Given the description of an element on the screen output the (x, y) to click on. 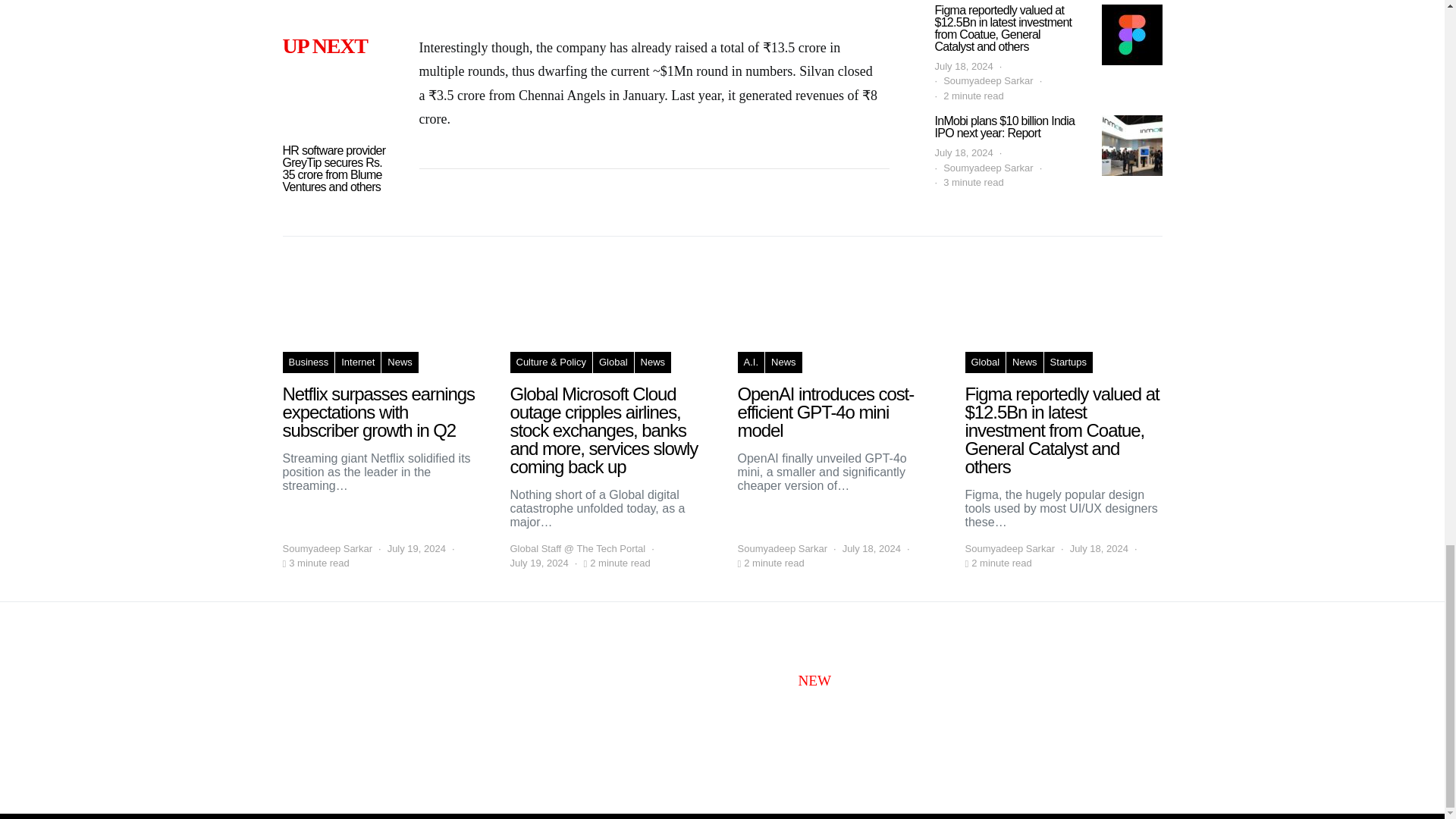
View all posts by Soumyadeep Sarkar (327, 548)
View all posts by Soumyadeep Sarkar (1008, 548)
View all posts by Soumyadeep Sarkar (781, 548)
